Given the description of an element on the screen output the (x, y) to click on. 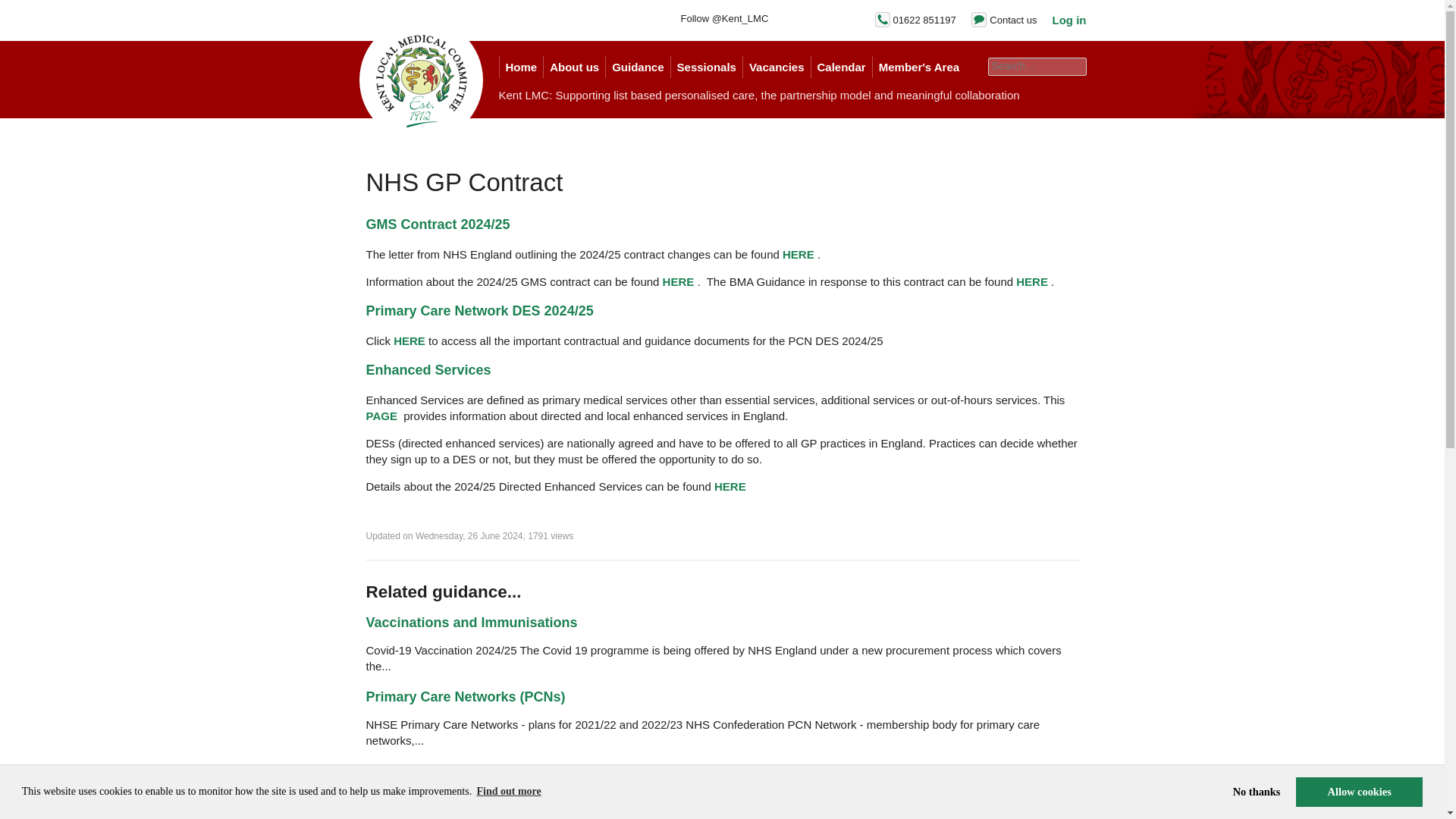
Vaccinations and Immunisations (470, 622)
HERE (798, 254)
PAGE (380, 415)
Kent LMC Express Weekly Updated Aug-Dec 2022 (526, 770)
Calendar (839, 66)
Contact us (1013, 19)
Allow cookies (1358, 791)
HERE (409, 340)
Find out more (508, 791)
Log in (1069, 19)
Member's Area (918, 66)
Guidance (637, 66)
Home (521, 66)
HERE (729, 486)
HERE (1032, 281)
